Given the description of an element on the screen output the (x, y) to click on. 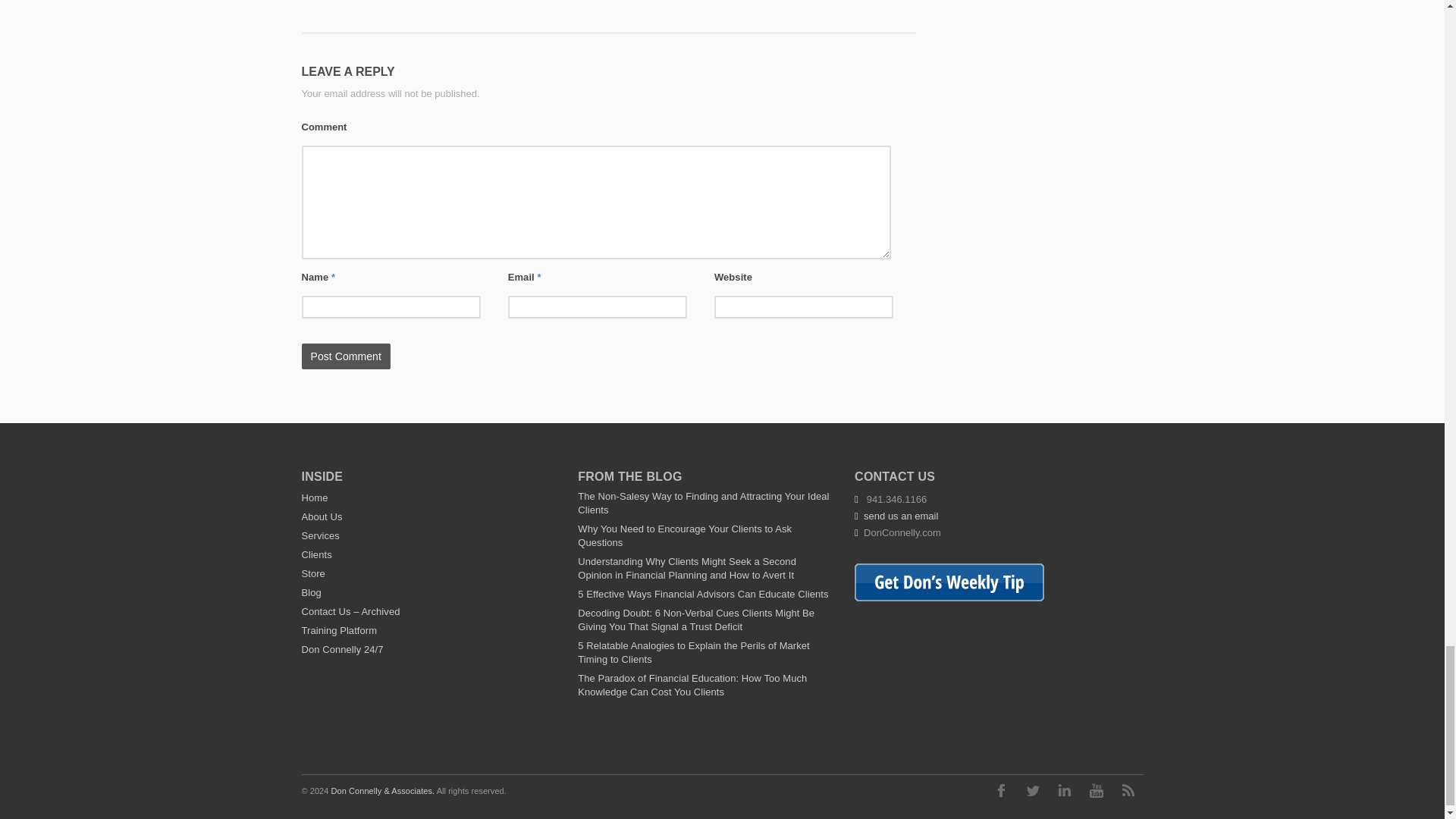
Post Comment (345, 356)
